Given the description of an element on the screen output the (x, y) to click on. 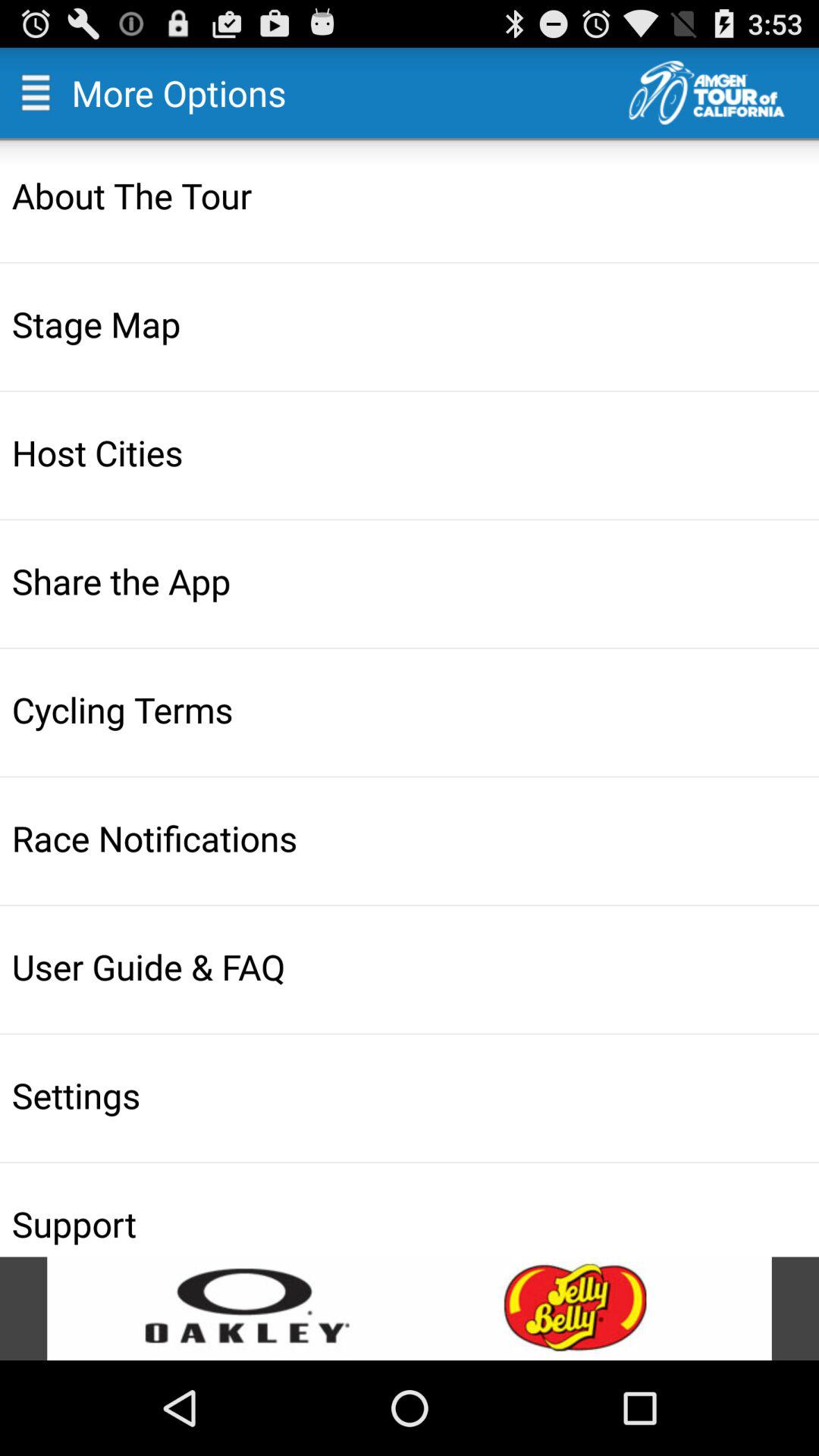
tap the item below about the tour item (411, 323)
